Given the description of an element on the screen output the (x, y) to click on. 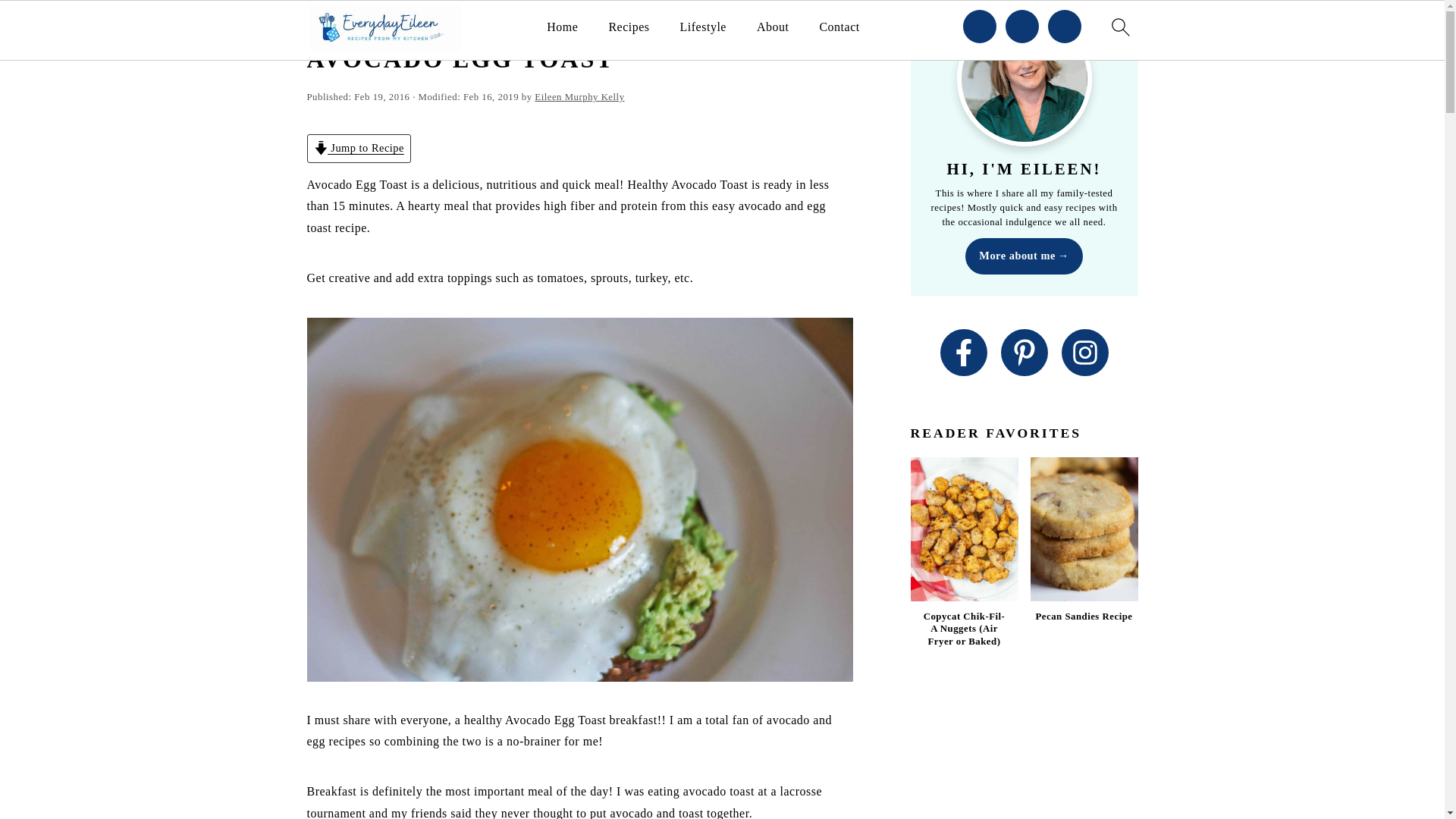
Home (562, 26)
search icon (1119, 26)
Recipes (628, 26)
Lifestyle (702, 26)
About (773, 26)
Contact (838, 26)
